Given the description of an element on the screen output the (x, y) to click on. 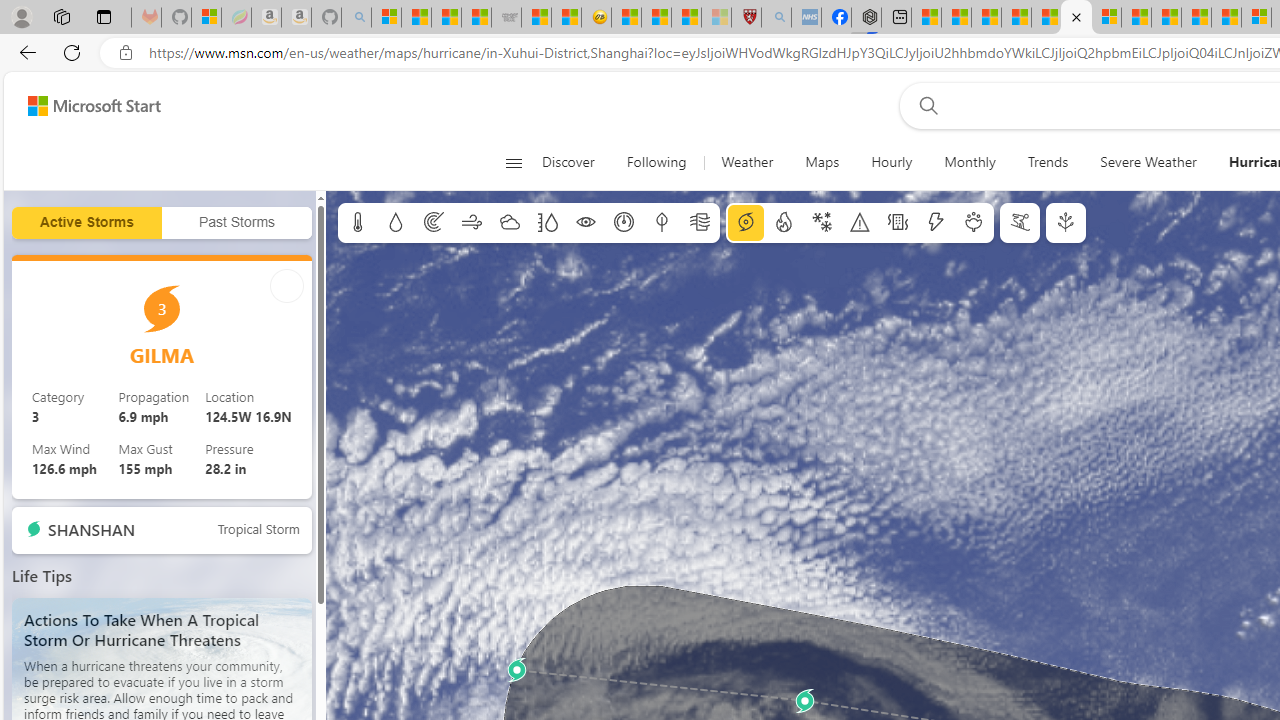
Ski conditions (1020, 223)
Hurricane (746, 223)
Air quality (700, 223)
Dew point (661, 223)
Active Storms (86, 223)
